Given the description of an element on the screen output the (x, y) to click on. 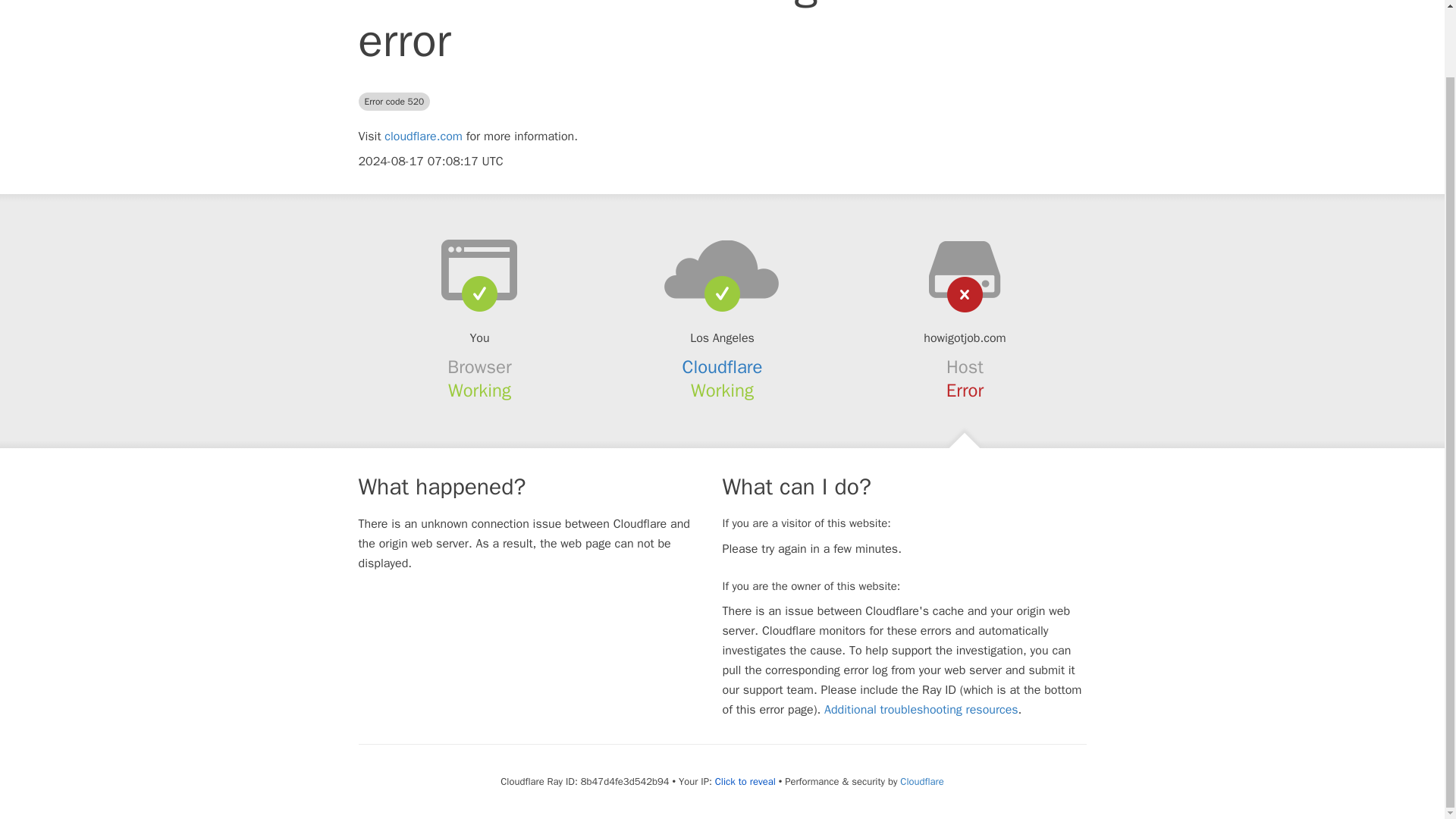
Cloudflare (921, 780)
cloudflare.com (423, 136)
Additional troubleshooting resources (920, 709)
Cloudflare (722, 366)
Click to reveal (745, 781)
